Given the description of an element on the screen output the (x, y) to click on. 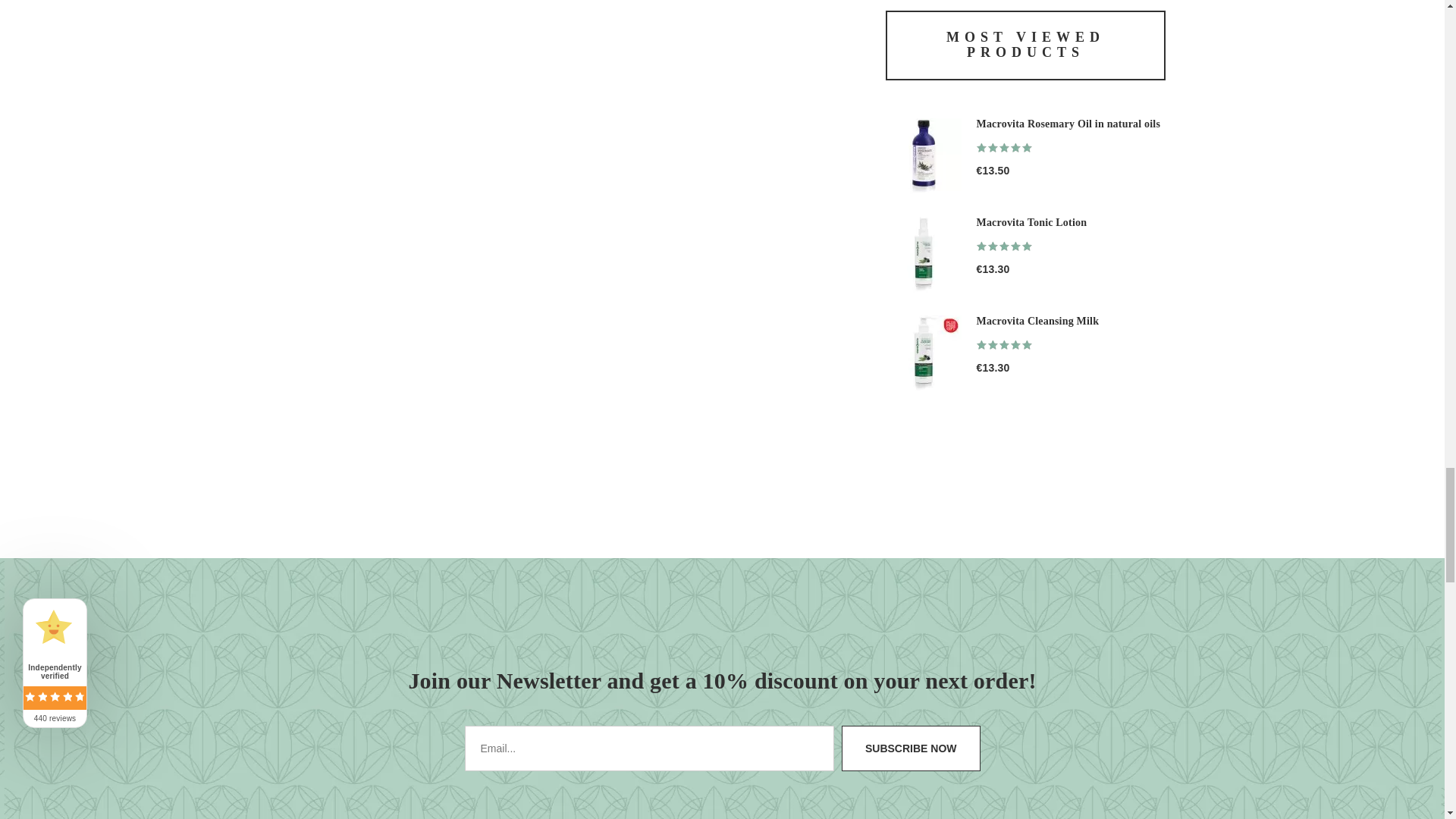
Subscribe Now (910, 748)
